Given the description of an element on the screen output the (x, y) to click on. 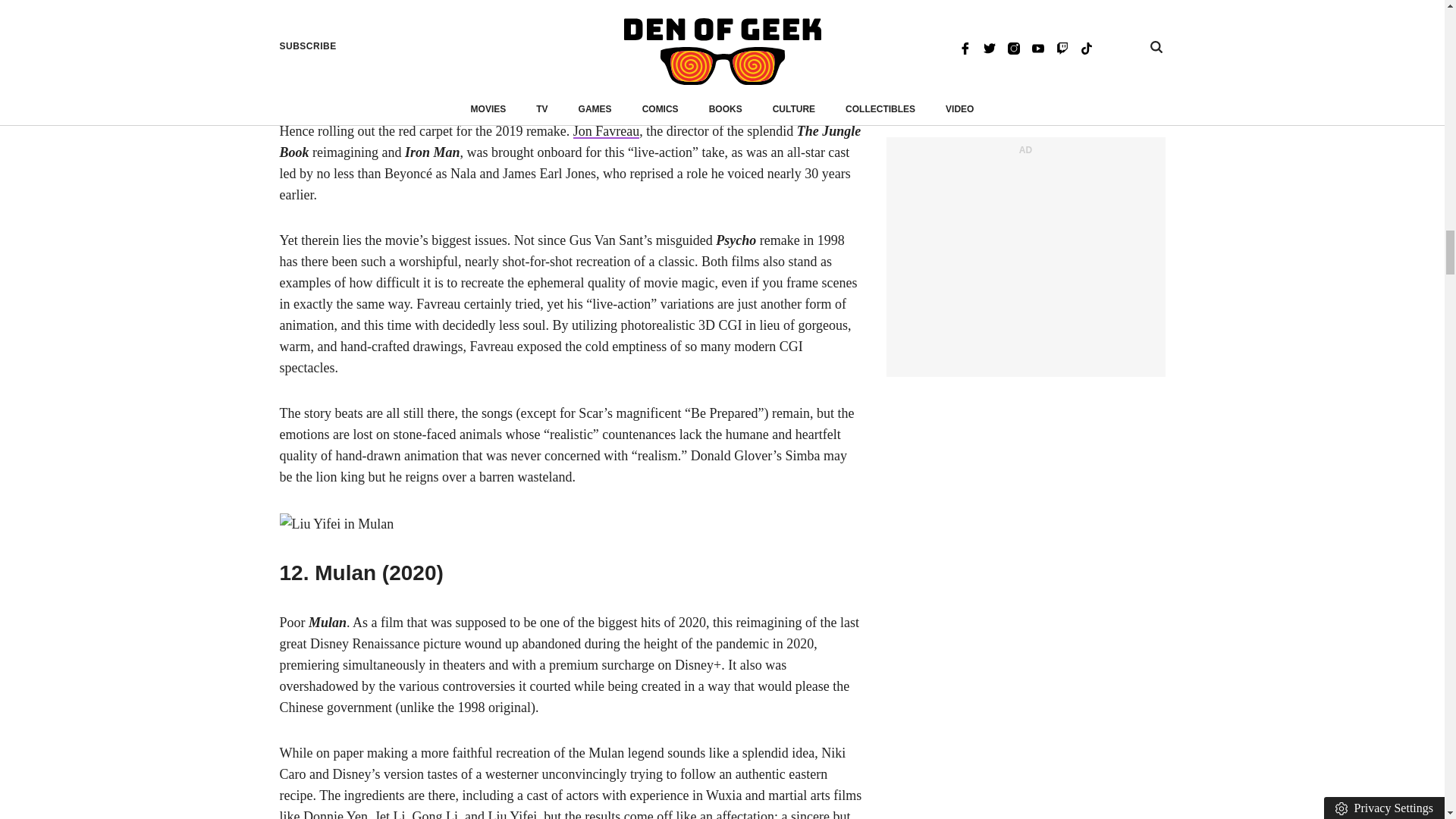
The Lion King (547, 67)
